Given the description of an element on the screen output the (x, y) to click on. 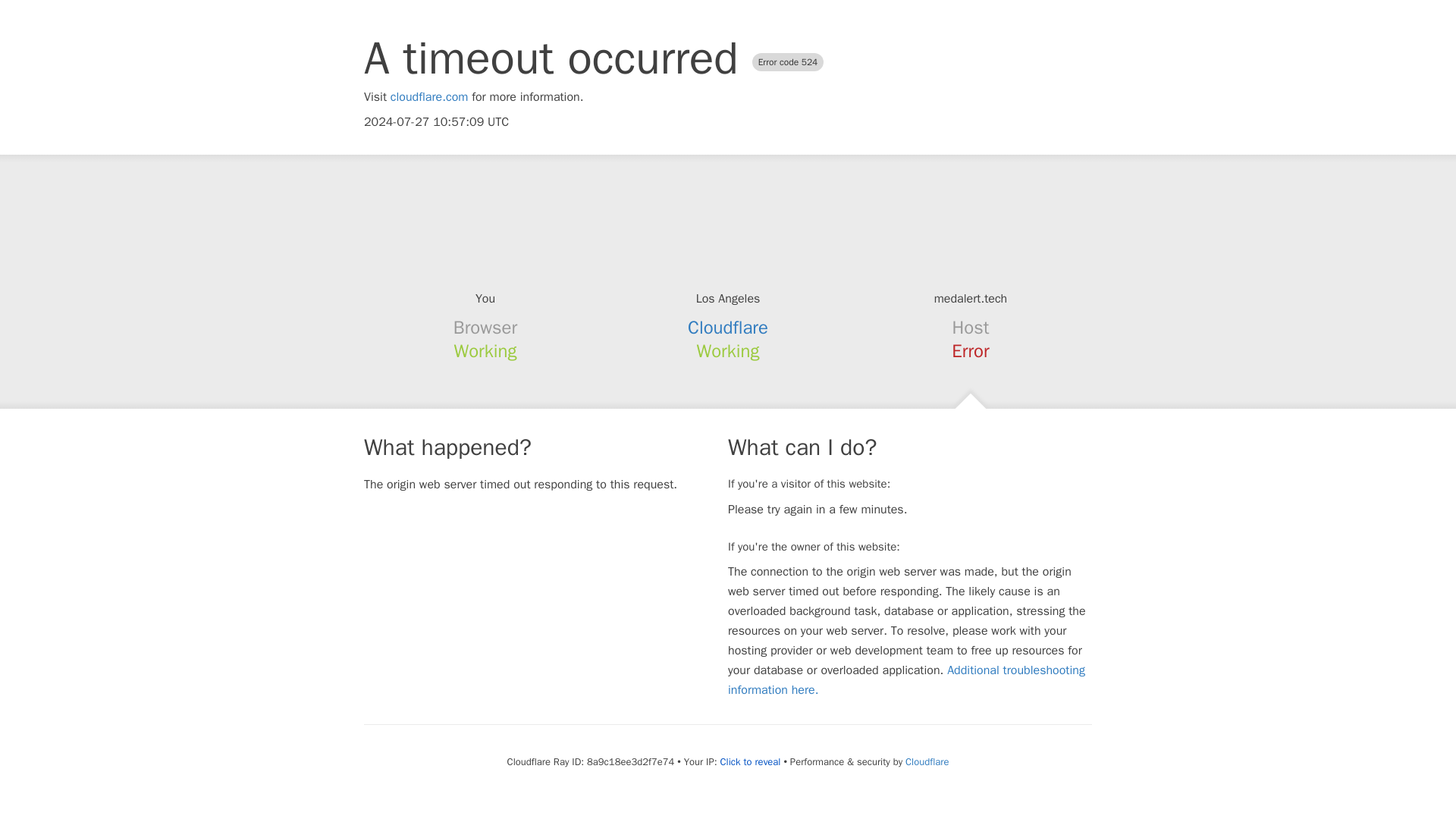
cloudflare.com (429, 96)
Cloudflare (927, 761)
Cloudflare (727, 327)
Click to reveal (750, 762)
Additional troubleshooting information here. (906, 679)
